Given the description of an element on the screen output the (x, y) to click on. 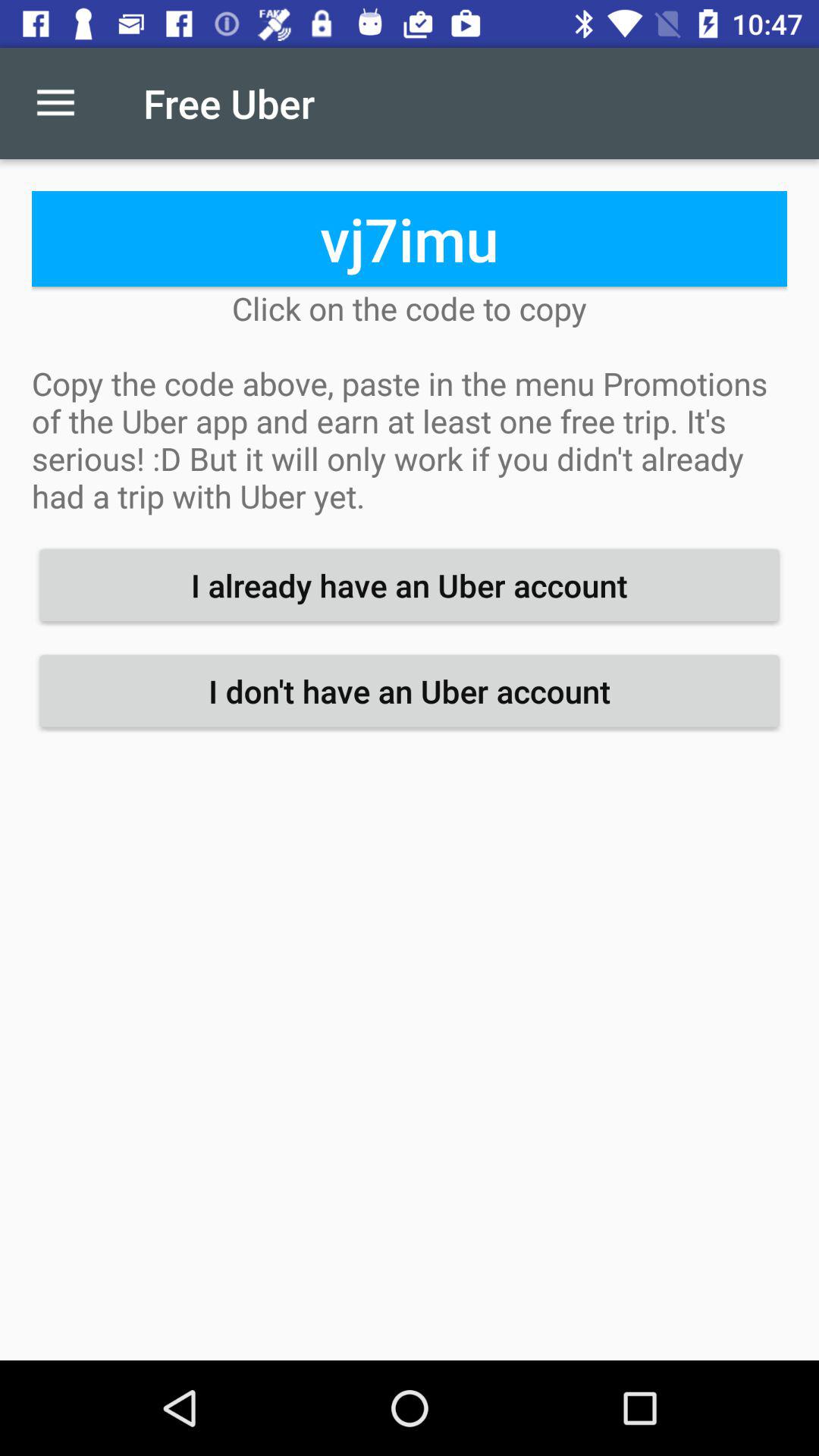
launch the icon above vj7imu (55, 103)
